Given the description of an element on the screen output the (x, y) to click on. 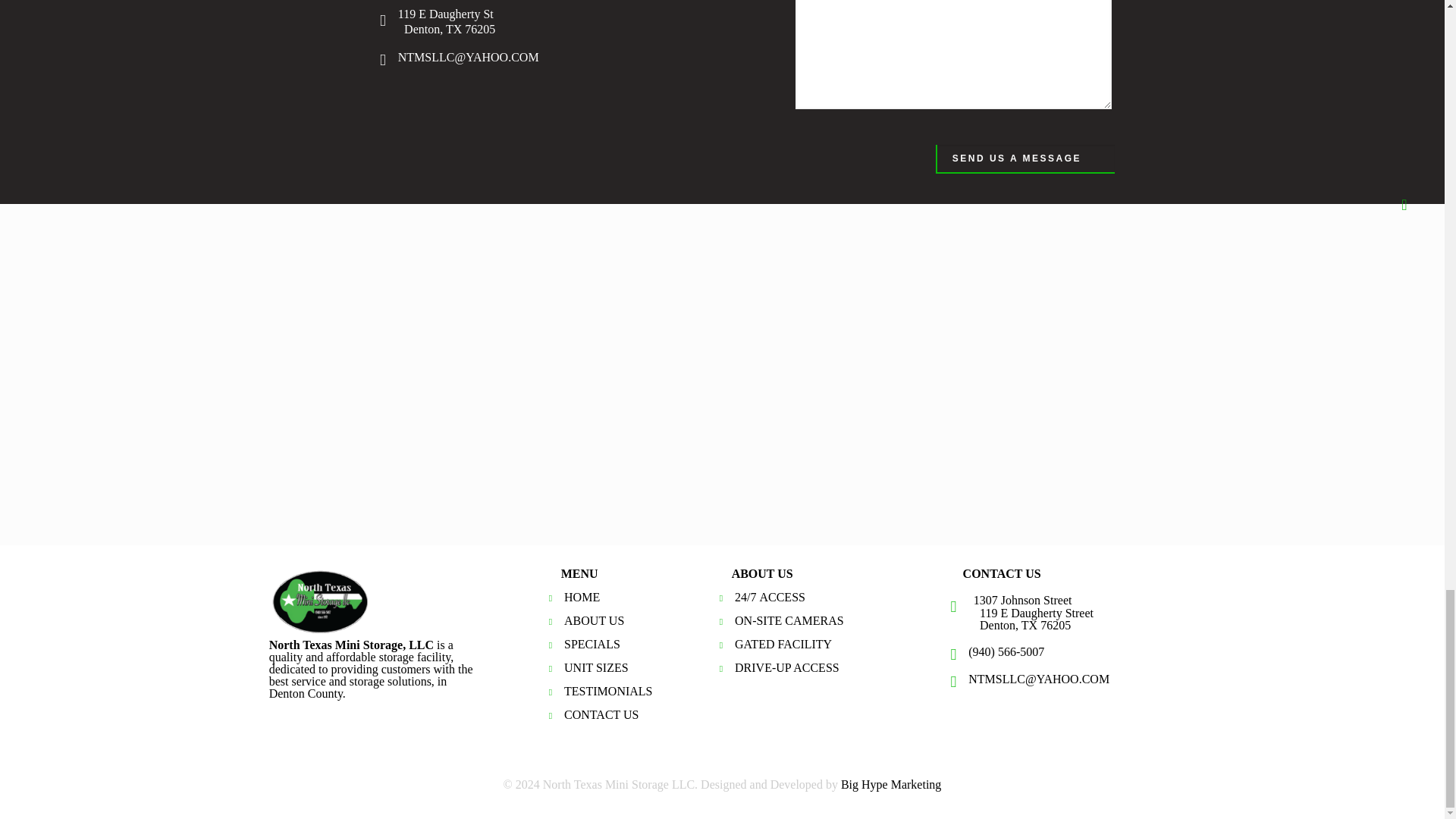
UNIT SIZES (596, 667)
SEND US A MESSAGE (1025, 158)
HOME (581, 596)
SPECIALS (592, 644)
ABOUT US (594, 620)
